Given the description of an element on the screen output the (x, y) to click on. 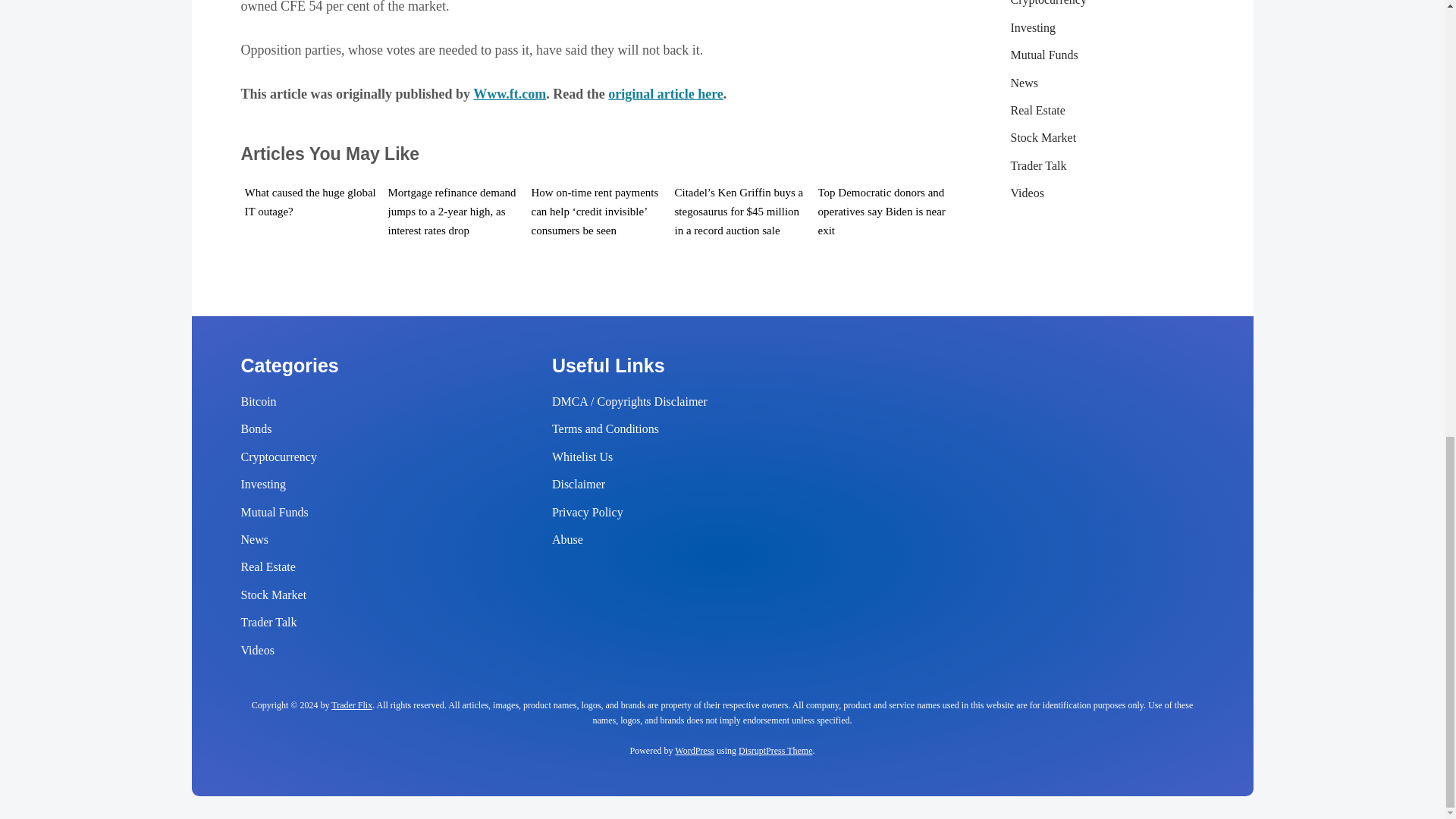
Www.ft.com (509, 93)
original article here (665, 93)
